Given the description of an element on the screen output the (x, y) to click on. 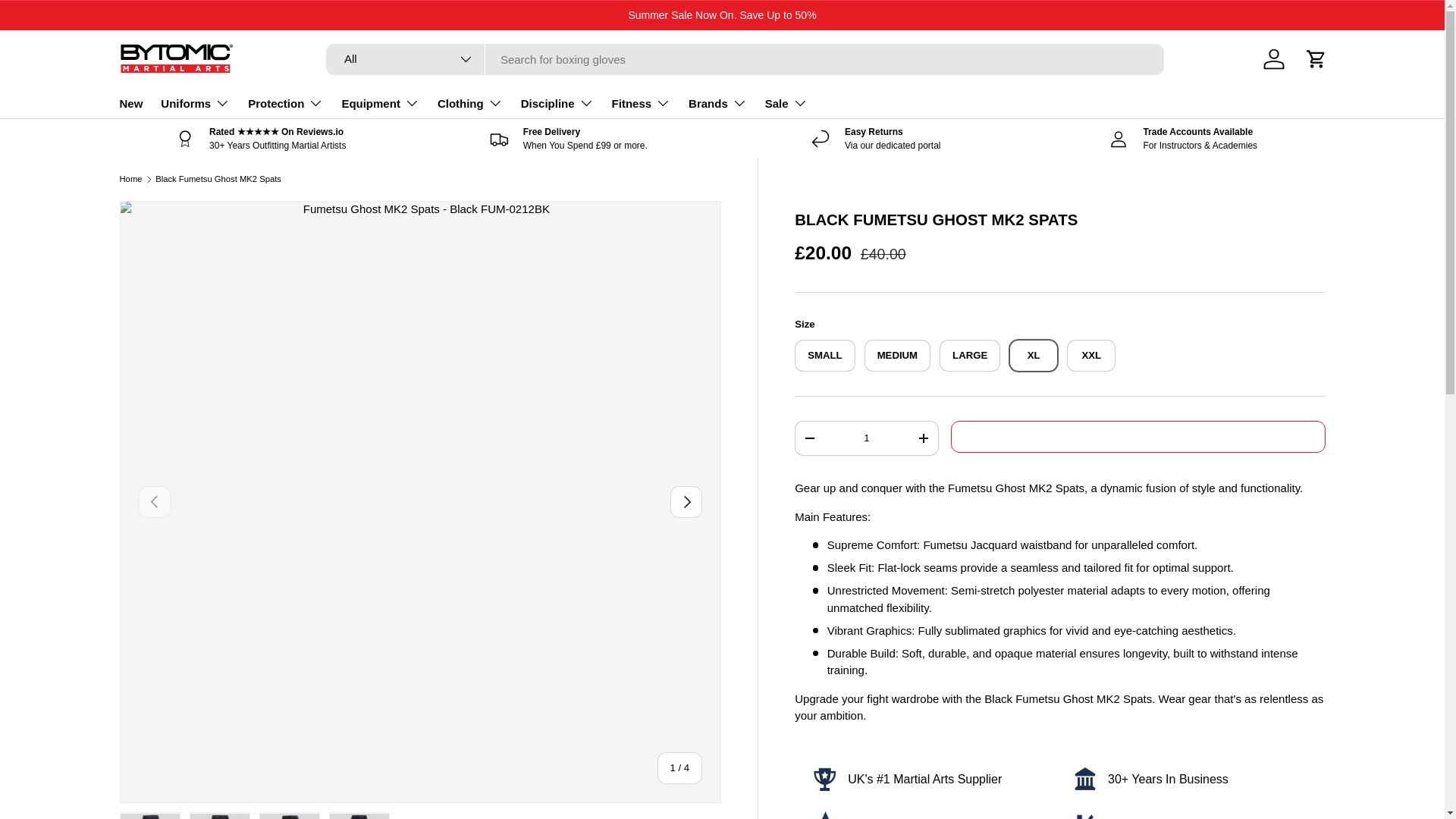
Log in (1273, 59)
SKIP TO CONTENT (68, 21)
1 (866, 438)
Protection (285, 102)
Uniforms (195, 102)
